Given the description of an element on the screen output the (x, y) to click on. 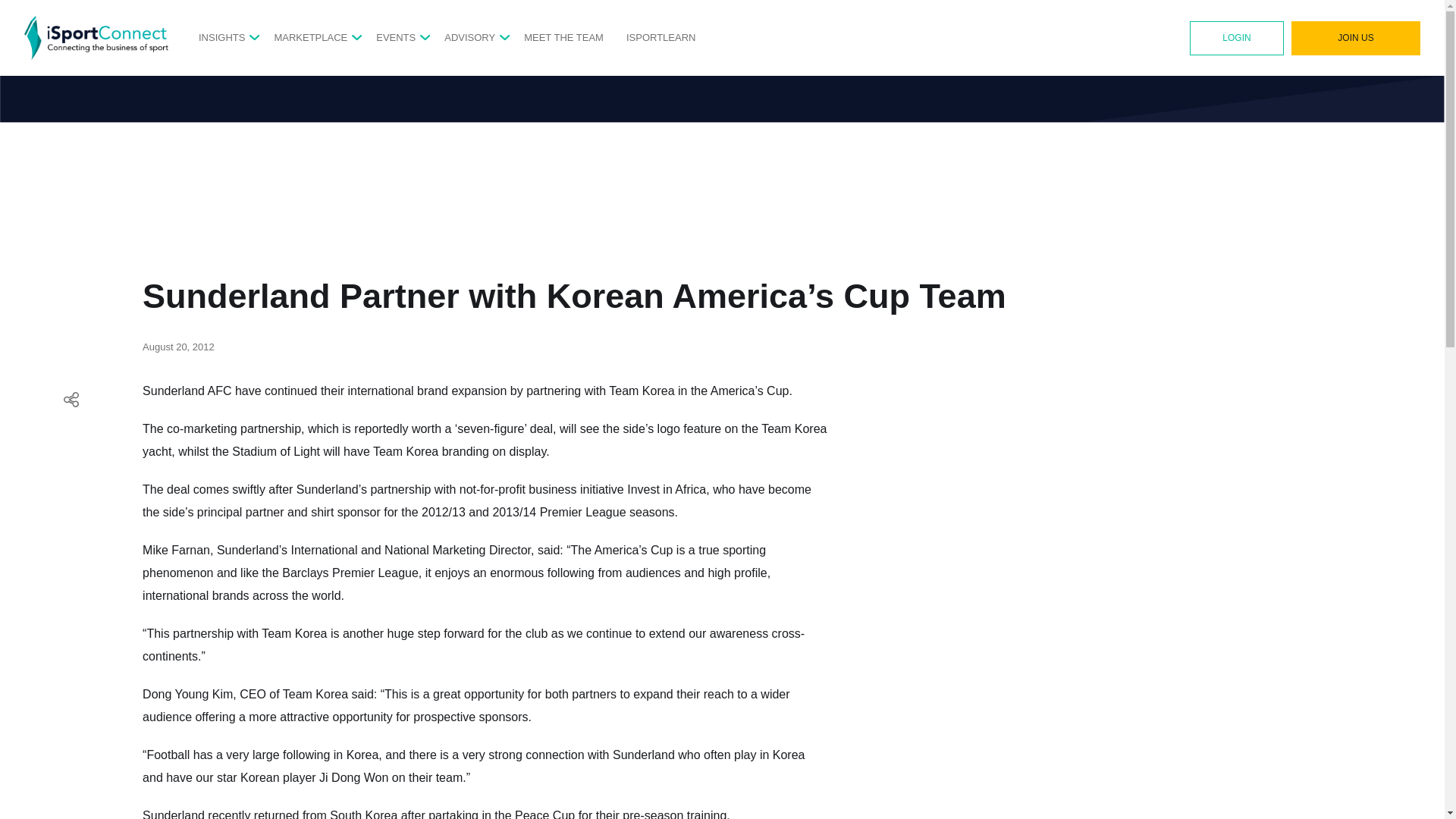
INSIGHTS (221, 37)
EVENTS (394, 37)
ISPORTLEARN (660, 37)
ADVISORY (469, 37)
MEET THE TEAM (564, 37)
LOGIN (1236, 38)
JOIN US (1356, 38)
MARKETPLACE (310, 37)
